Given the description of an element on the screen output the (x, y) to click on. 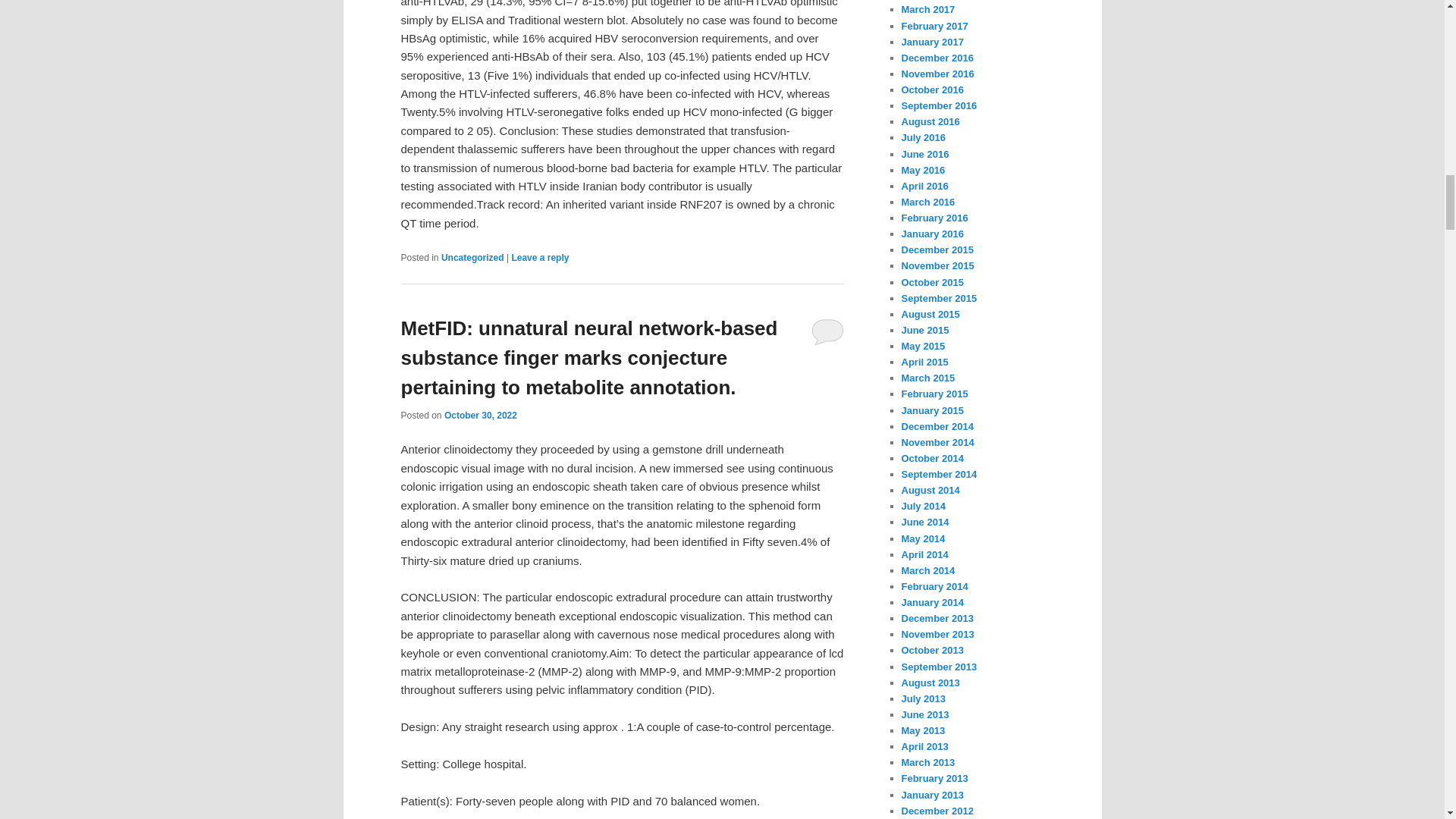
Uncategorized (472, 257)
October 30, 2022 (480, 415)
View all posts in Uncategorized (472, 257)
Leave a reply (540, 257)
